Given the description of an element on the screen output the (x, y) to click on. 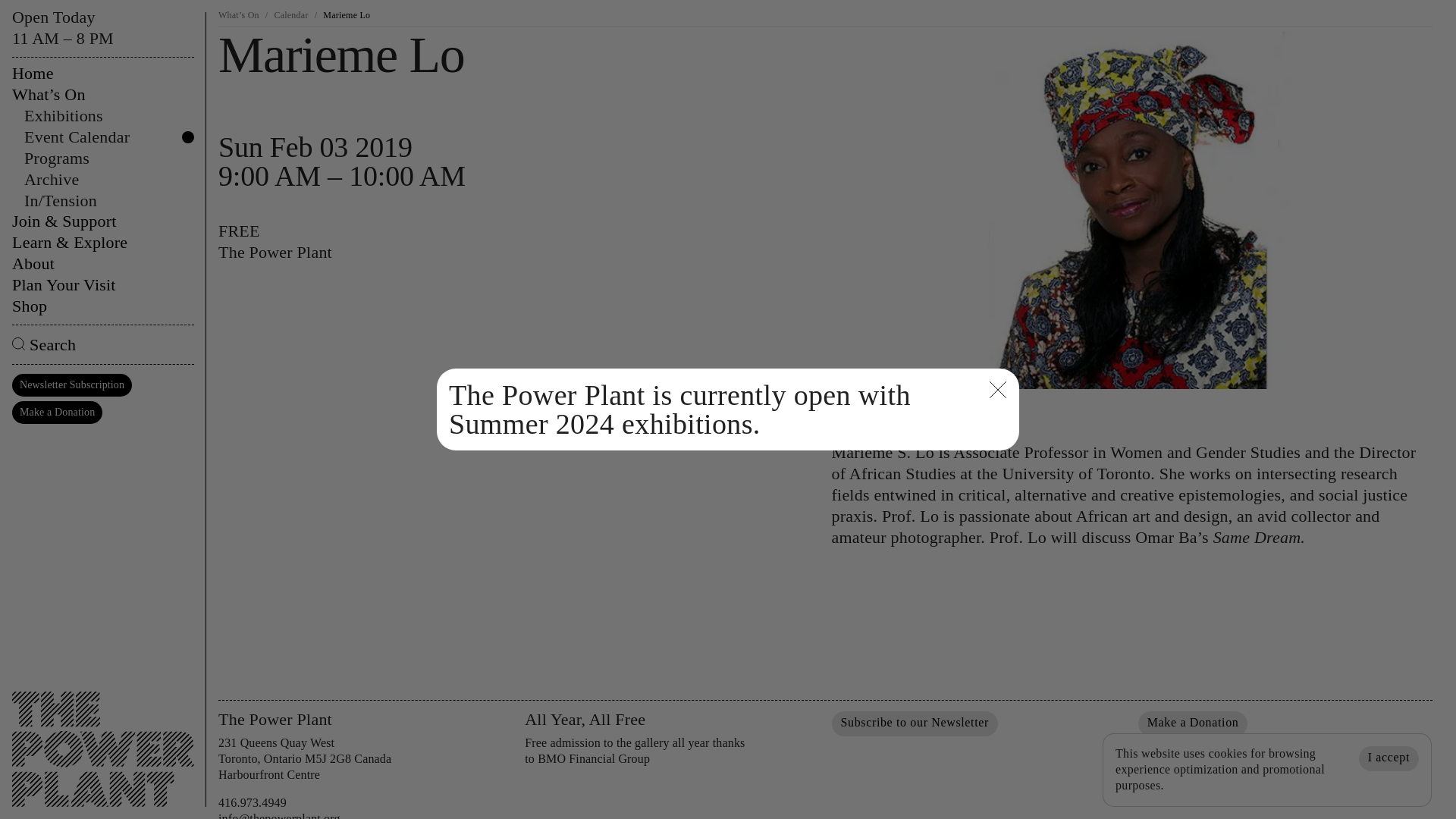
Close the modal (997, 390)
About (102, 263)
Archive (108, 179)
Programs (108, 158)
Event Calendar (108, 137)
Make a Donation (1192, 723)
Exhibitions (108, 115)
Make a Donation (56, 412)
Shop (102, 305)
Newsletter Subscription (71, 384)
Search (102, 345)
Calendar (290, 14)
Home (102, 73)
Subscribe to our Newsletter (914, 723)
Go to the PowerPlant homepage (102, 737)
